Given the description of an element on the screen output the (x, y) to click on. 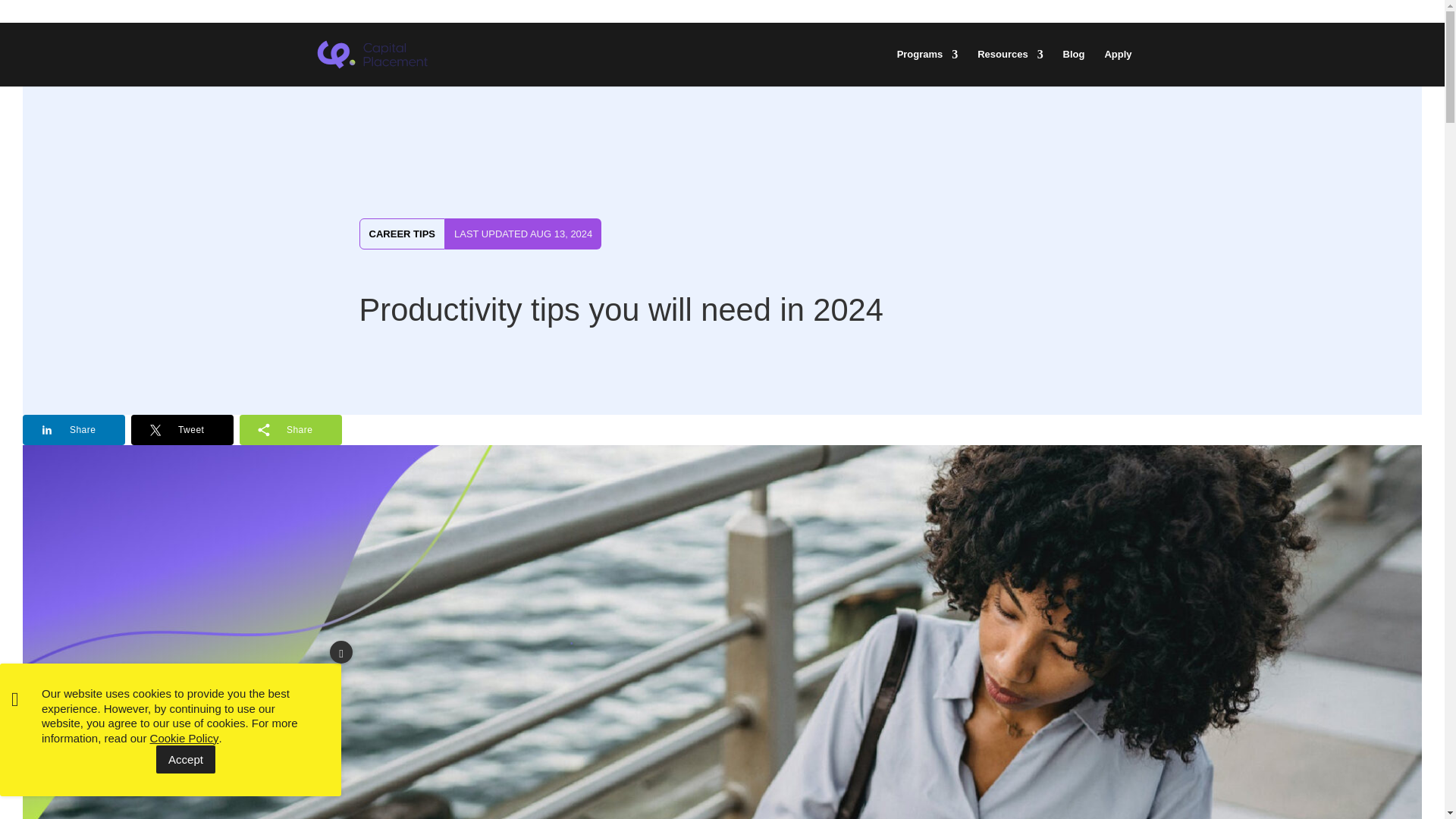
Programs (927, 67)
Resources (1009, 67)
